Given the description of an element on the screen output the (x, y) to click on. 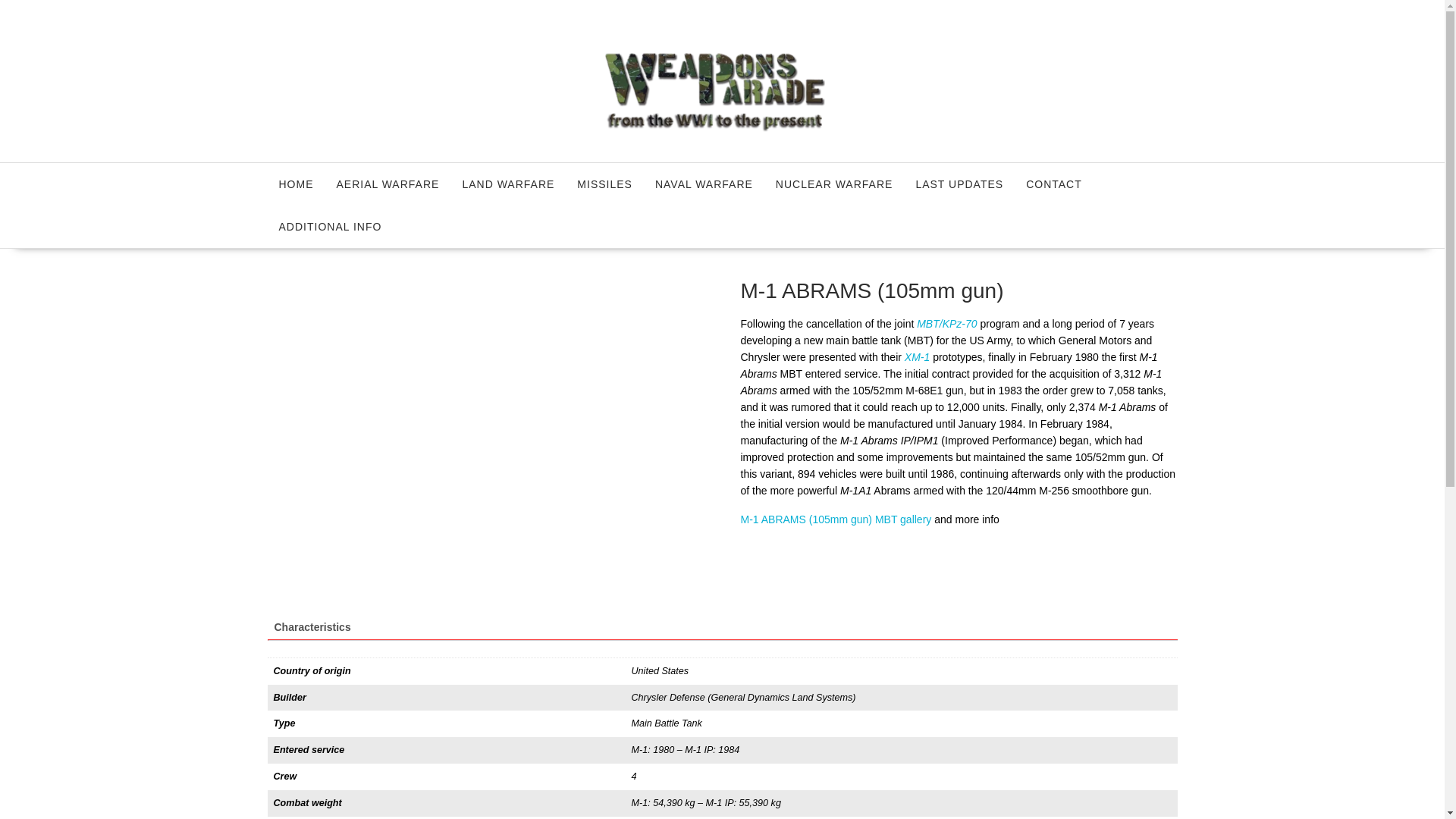
AERIAL WARFARE (386, 183)
LAND WARFARE (507, 183)
HOME (295, 183)
